Given the description of an element on the screen output the (x, y) to click on. 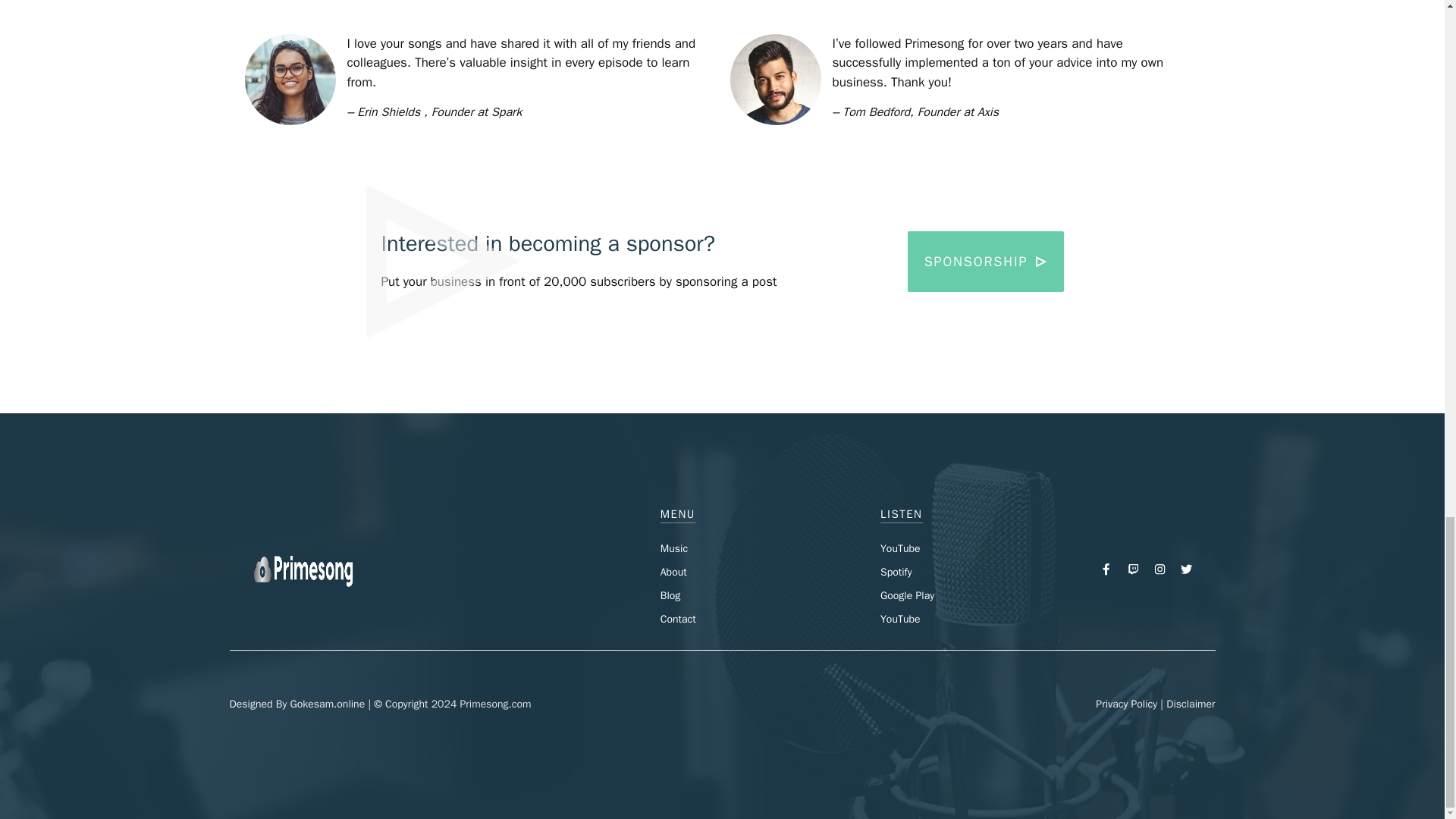
About (674, 571)
Contact (678, 618)
Blog (671, 594)
Spotify (896, 571)
YouTube (900, 618)
Music (674, 548)
SPONSORSHIP (985, 260)
YouTube (900, 548)
Google Play (907, 594)
